Given the description of an element on the screen output the (x, y) to click on. 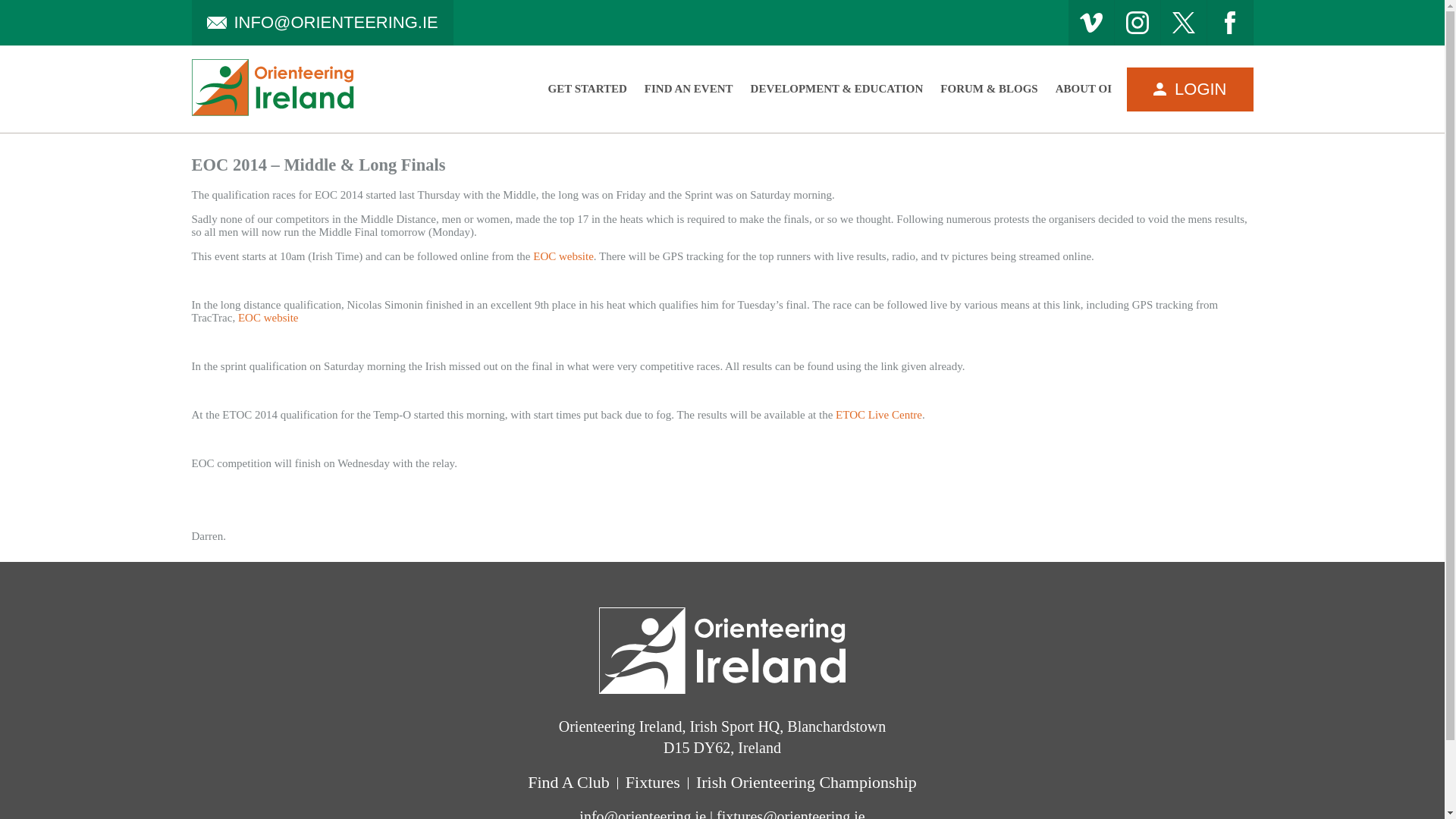
ETOC Live Centre (878, 414)
LOGIN (1189, 88)
Find A Club (568, 782)
EOC website (563, 256)
Irish Orienteering Championship (806, 782)
ABOUT OI (1083, 89)
FIND AN EVENT (689, 89)
GET STARTED (586, 89)
Fixtures (652, 782)
EOC website (268, 317)
